Given the description of an element on the screen output the (x, y) to click on. 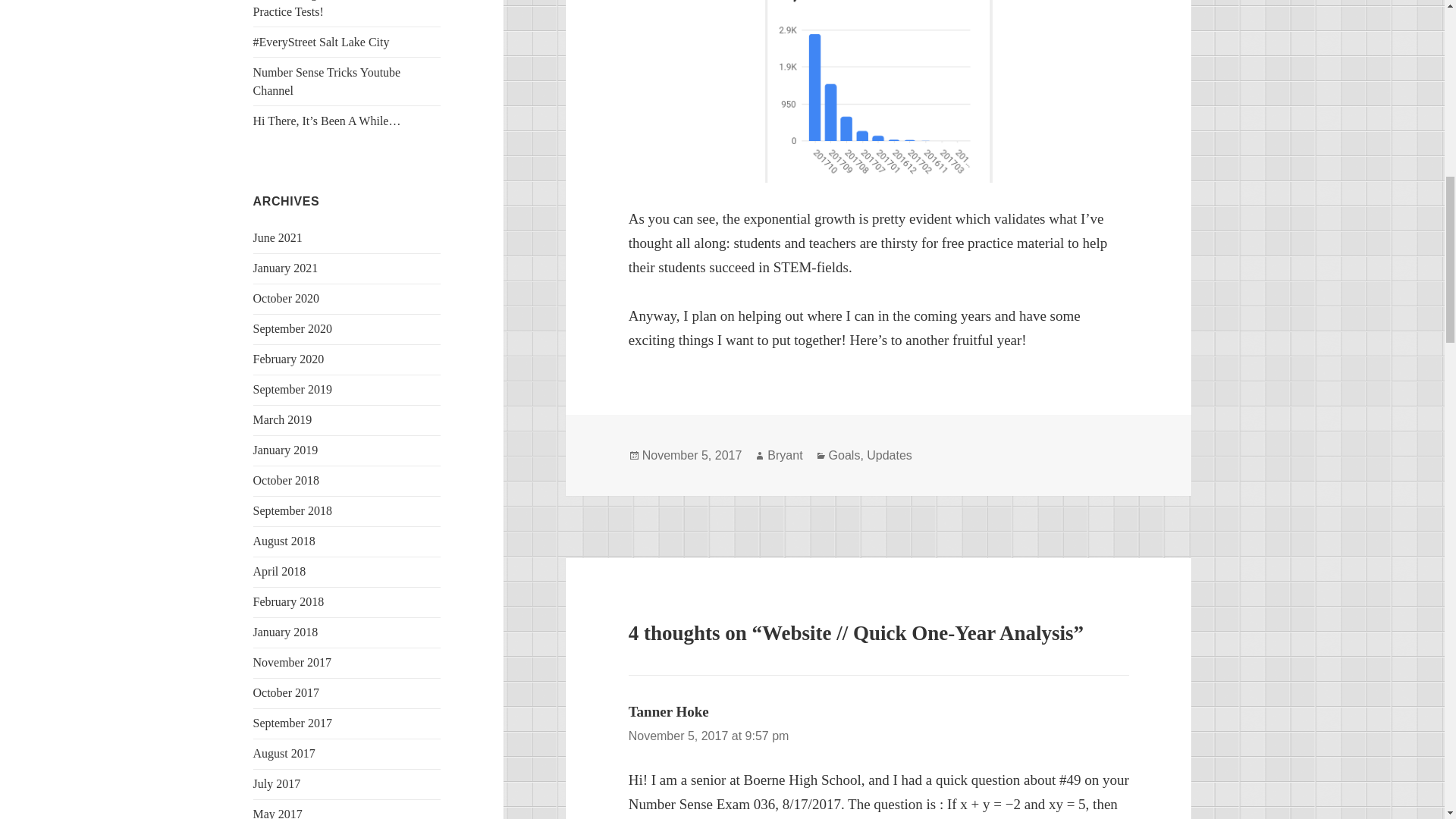
April 2018 (279, 571)
Number Sense Tricks Youtube Channel (327, 81)
January 2018 (285, 631)
February 2020 (288, 358)
March 2019 (283, 419)
September 2017 (292, 722)
August 2017 (284, 753)
September 2018 (292, 510)
August 2018 (284, 540)
June 2021 (277, 237)
100 Free High School Number Sense Practice Tests! (343, 9)
February 2018 (288, 601)
May 2017 (277, 813)
January 2019 (285, 449)
July 2017 (277, 783)
